Given the description of an element on the screen output the (x, y) to click on. 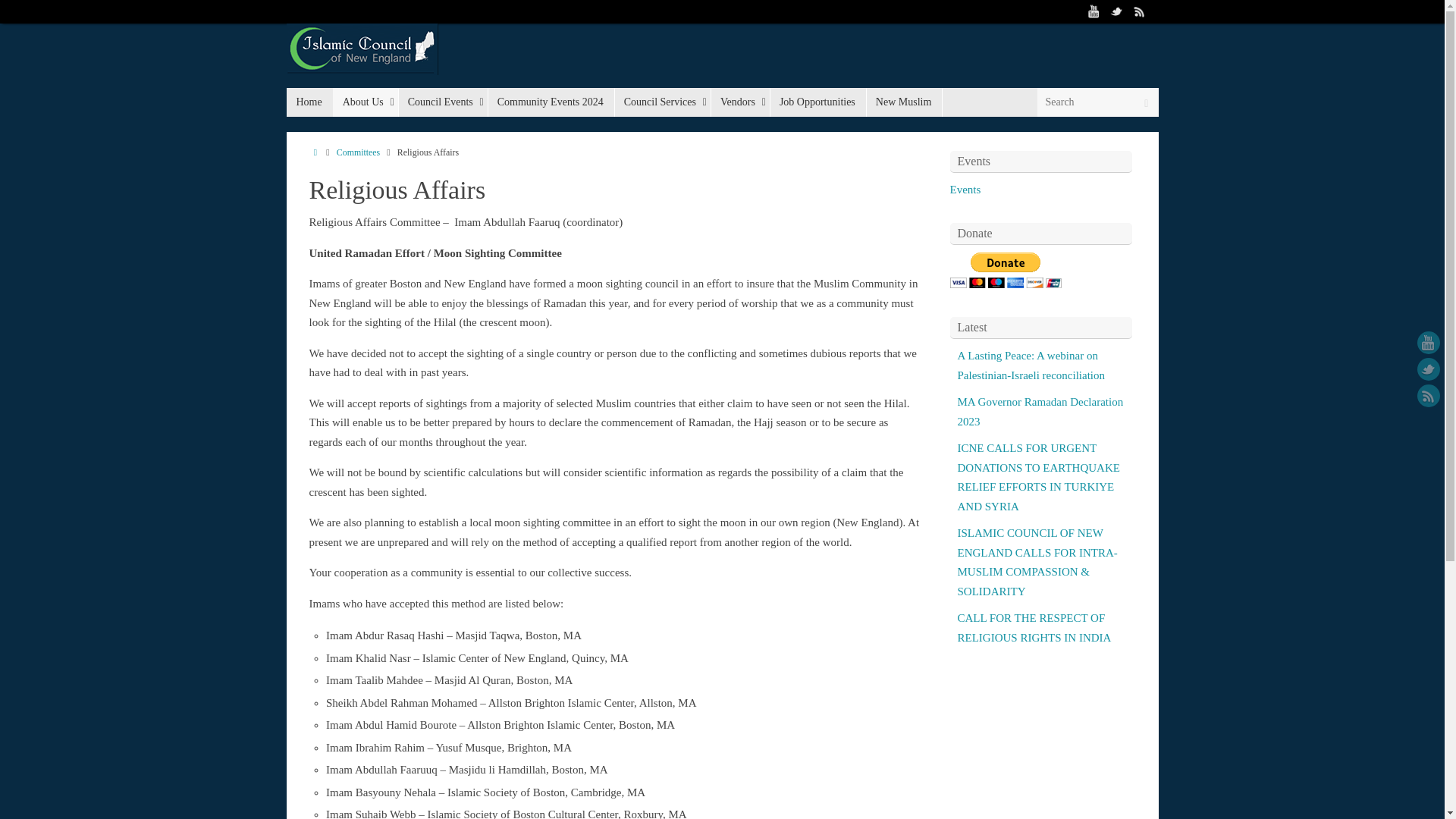
Twitter (1116, 11)
RSS (1139, 11)
RSS (1427, 395)
Twitter (1427, 368)
YouTube (1427, 342)
YouTube (1094, 11)
Council Events (442, 102)
Home (309, 102)
About Us (365, 102)
